Given the description of an element on the screen output the (x, y) to click on. 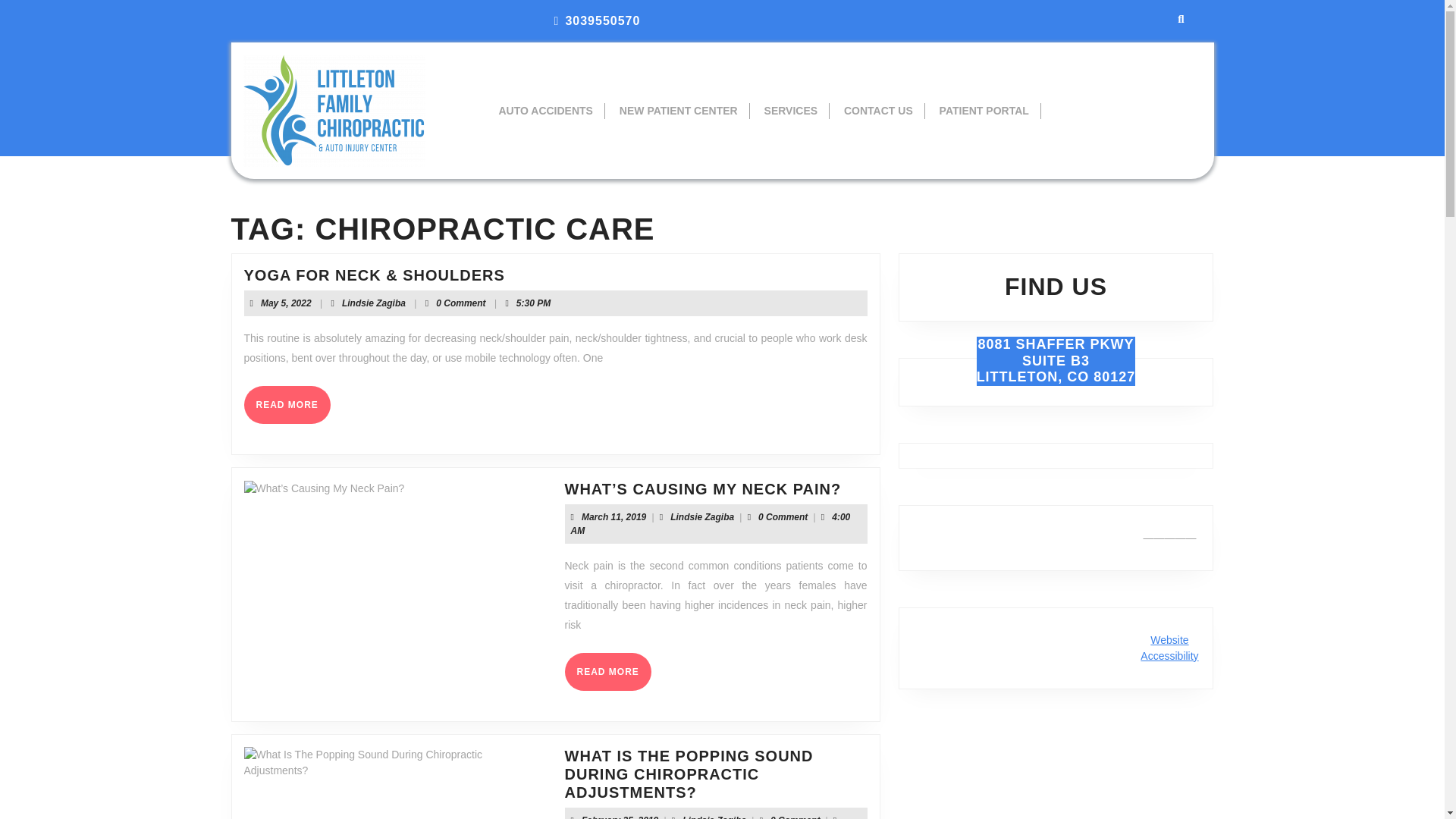
PATIENT PORTAL (287, 404)
SERVICES (984, 110)
AUTO ACCIDENTS (374, 303)
3039550570 (790, 110)
NEW PATIENT CENTER (545, 110)
